Given the description of an element on the screen output the (x, y) to click on. 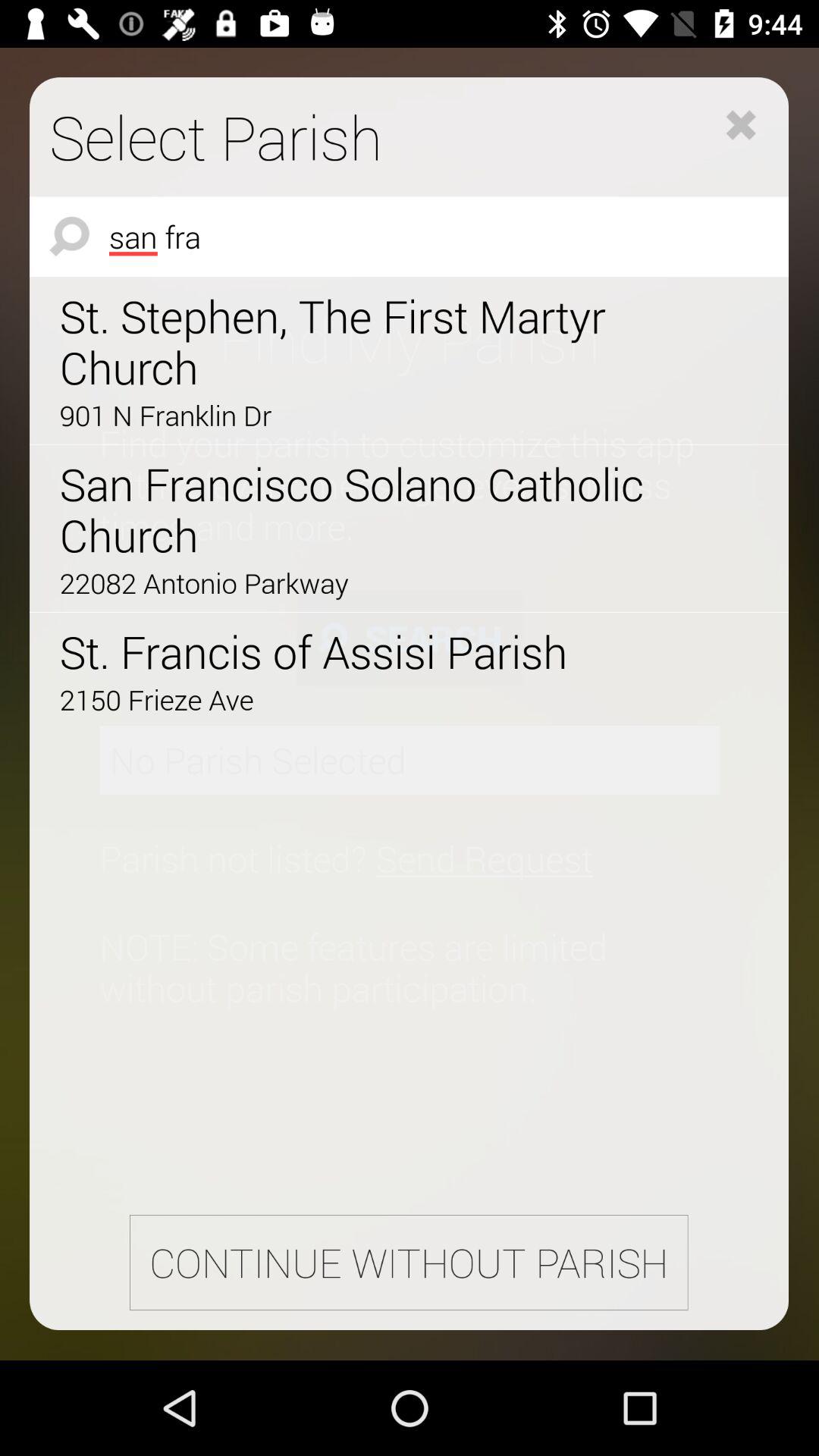
open the 22082 antonio parkway (366, 582)
